Given the description of an element on the screen output the (x, y) to click on. 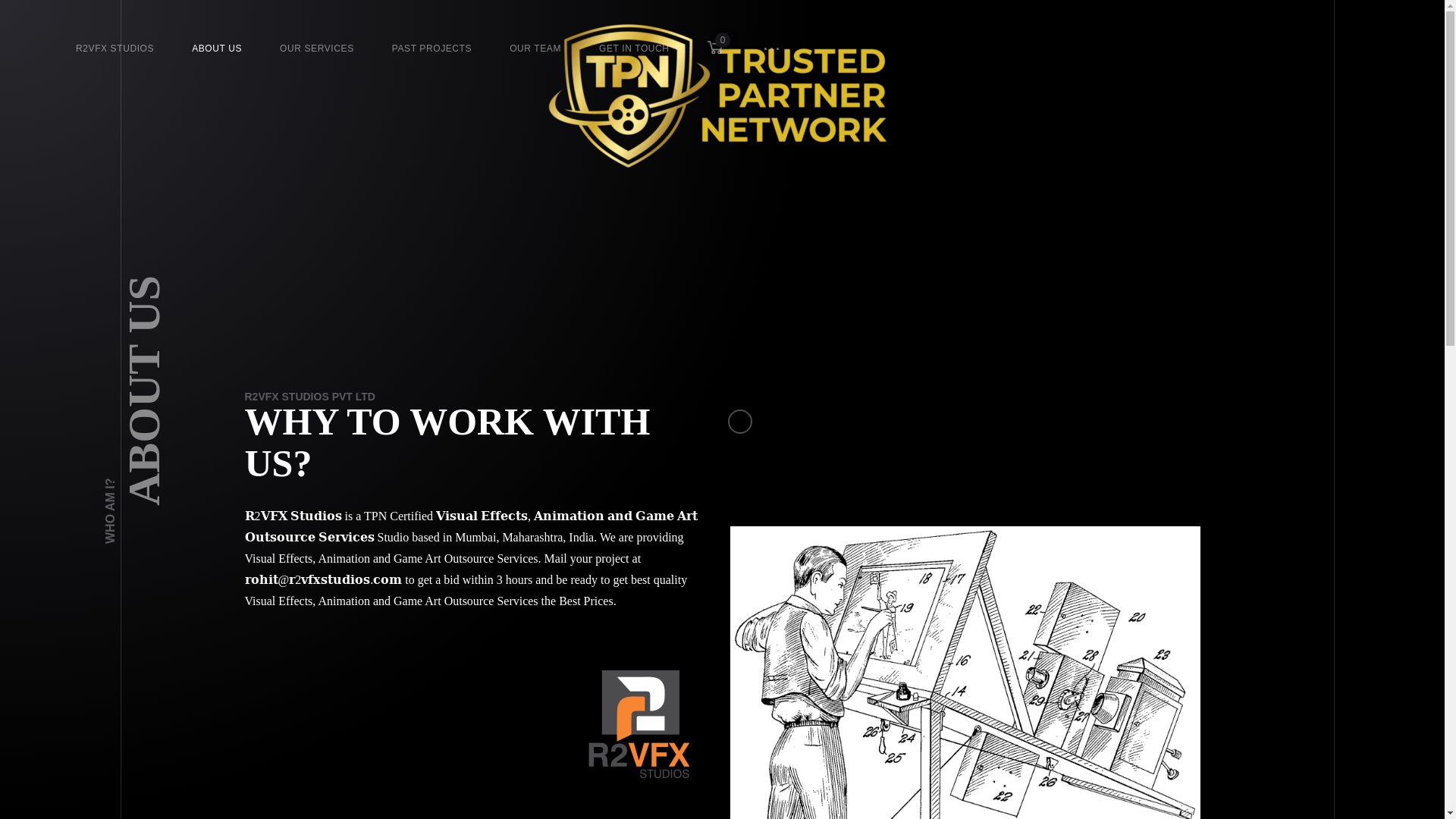
0 (715, 51)
GET IN TOUCH (633, 48)
OUR TEAM (534, 48)
ABOUT US (216, 48)
PAST PROJECTS (431, 48)
R2VFX STUDIOS (114, 48)
OUR SERVICES (316, 48)
